Given the description of an element on the screen output the (x, y) to click on. 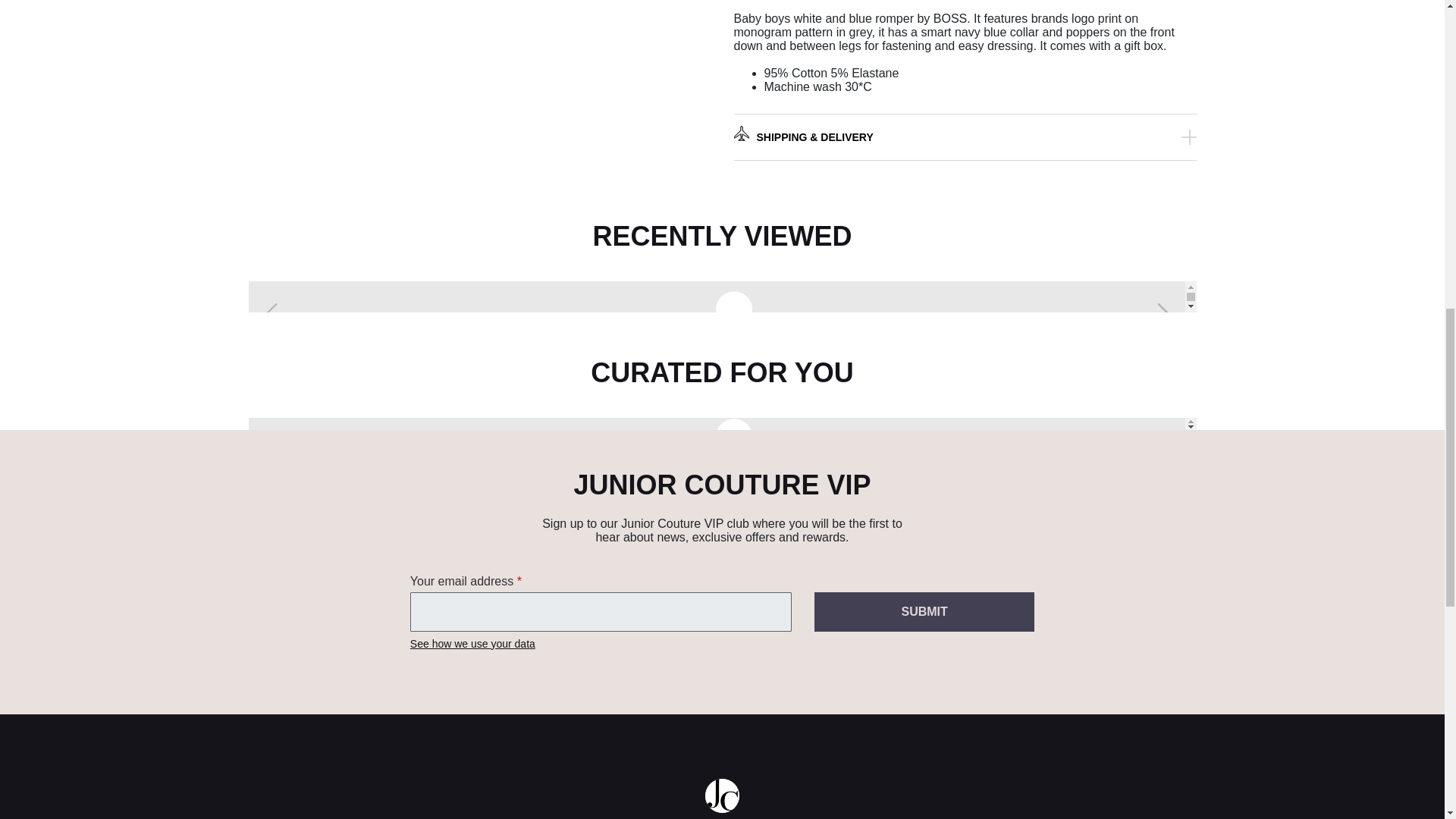
Juniour Couture Home (721, 795)
